Given the description of an element on the screen output the (x, y) to click on. 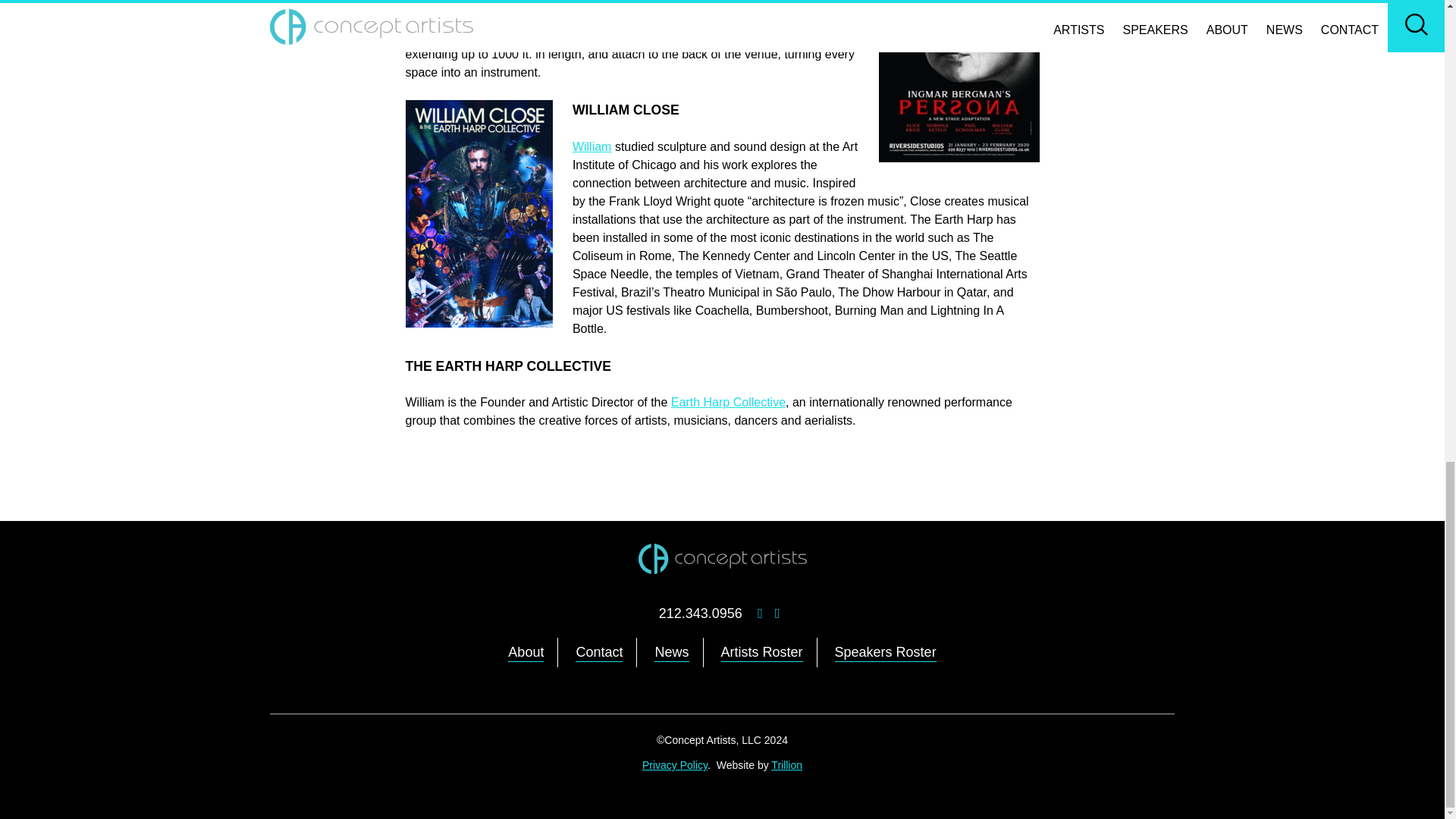
News (670, 652)
William (591, 146)
Artists Roster (761, 652)
Speakers Roster (885, 652)
William Close (441, 2)
Earth Harp Collective (728, 401)
About (525, 652)
Privacy Policy (674, 765)
Contact (599, 652)
Trillion (786, 765)
212.343.0956 (700, 613)
